Given the description of an element on the screen output the (x, y) to click on. 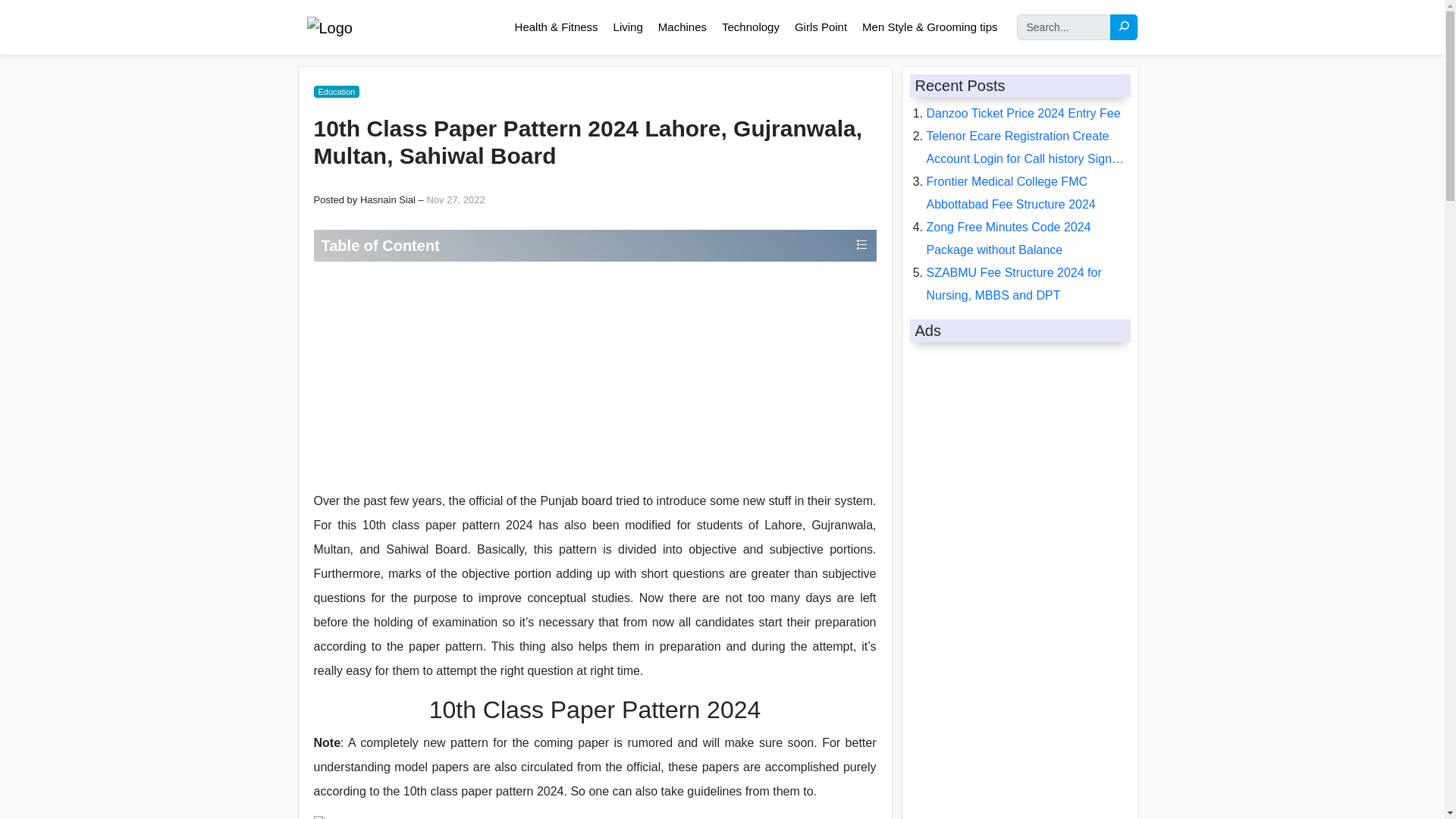
Living (628, 26)
Girls Point (820, 26)
Danzoo Ticket Price 2024 Entry Fee (1023, 113)
SZABMU Fee Structure 2024 for Nursing, MBBS and DPT (1014, 284)
Machines (681, 26)
Advertisement (595, 375)
Frontier Medical College FMC Abbottabad Fee Structure 2024 (1011, 192)
Education (336, 91)
Technology (750, 26)
Zong Free Minutes Code 2024 Package without Balance (1008, 238)
